Given the description of an element on the screen output the (x, y) to click on. 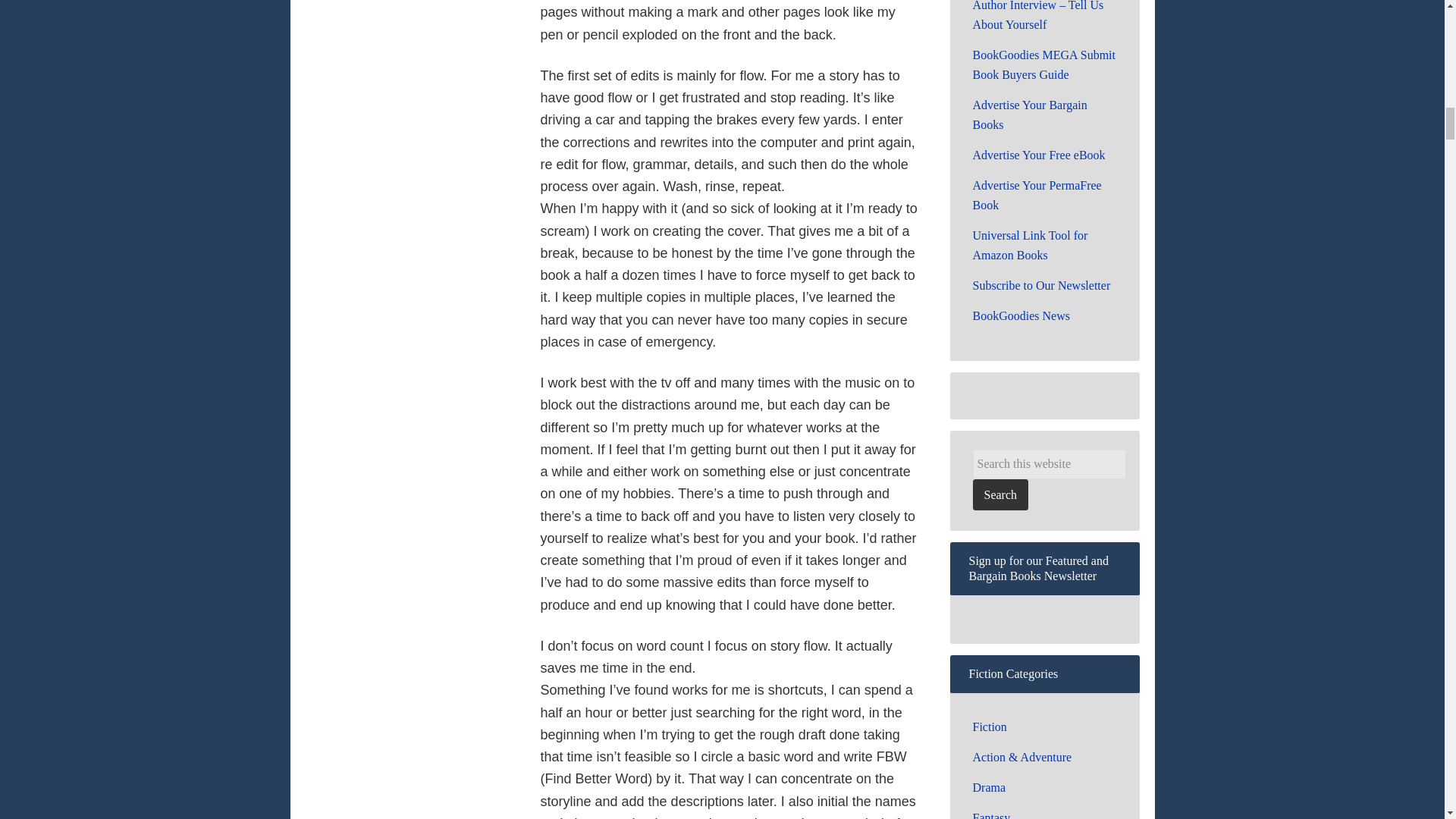
Search (999, 494)
Search (999, 494)
